Given the description of an element on the screen output the (x, y) to click on. 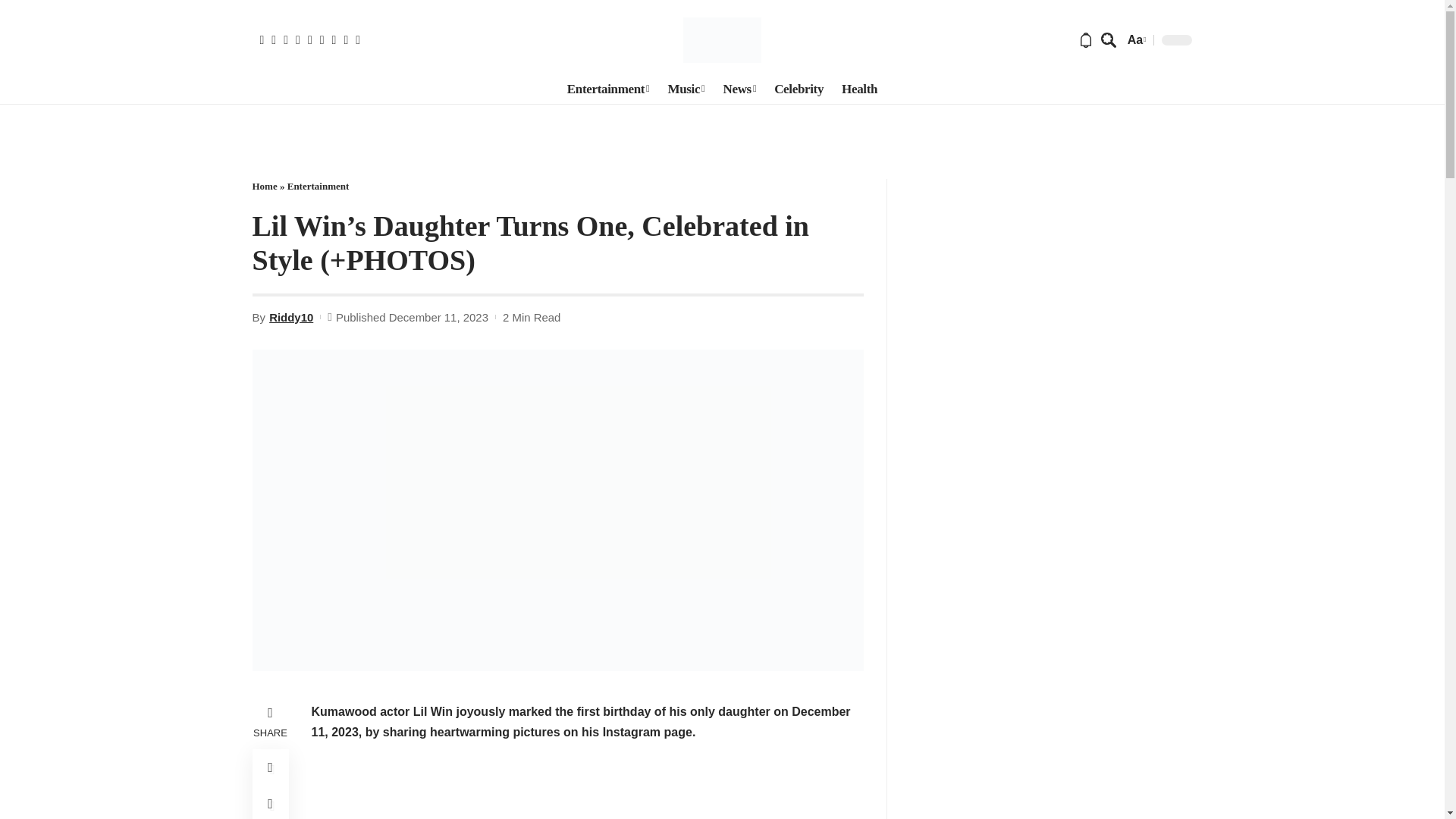
Celebrity (798, 89)
TownFlex (721, 40)
Music (685, 89)
Health (859, 89)
News (739, 89)
Entertainment (608, 89)
Aa (1135, 39)
